Given the description of an element on the screen output the (x, y) to click on. 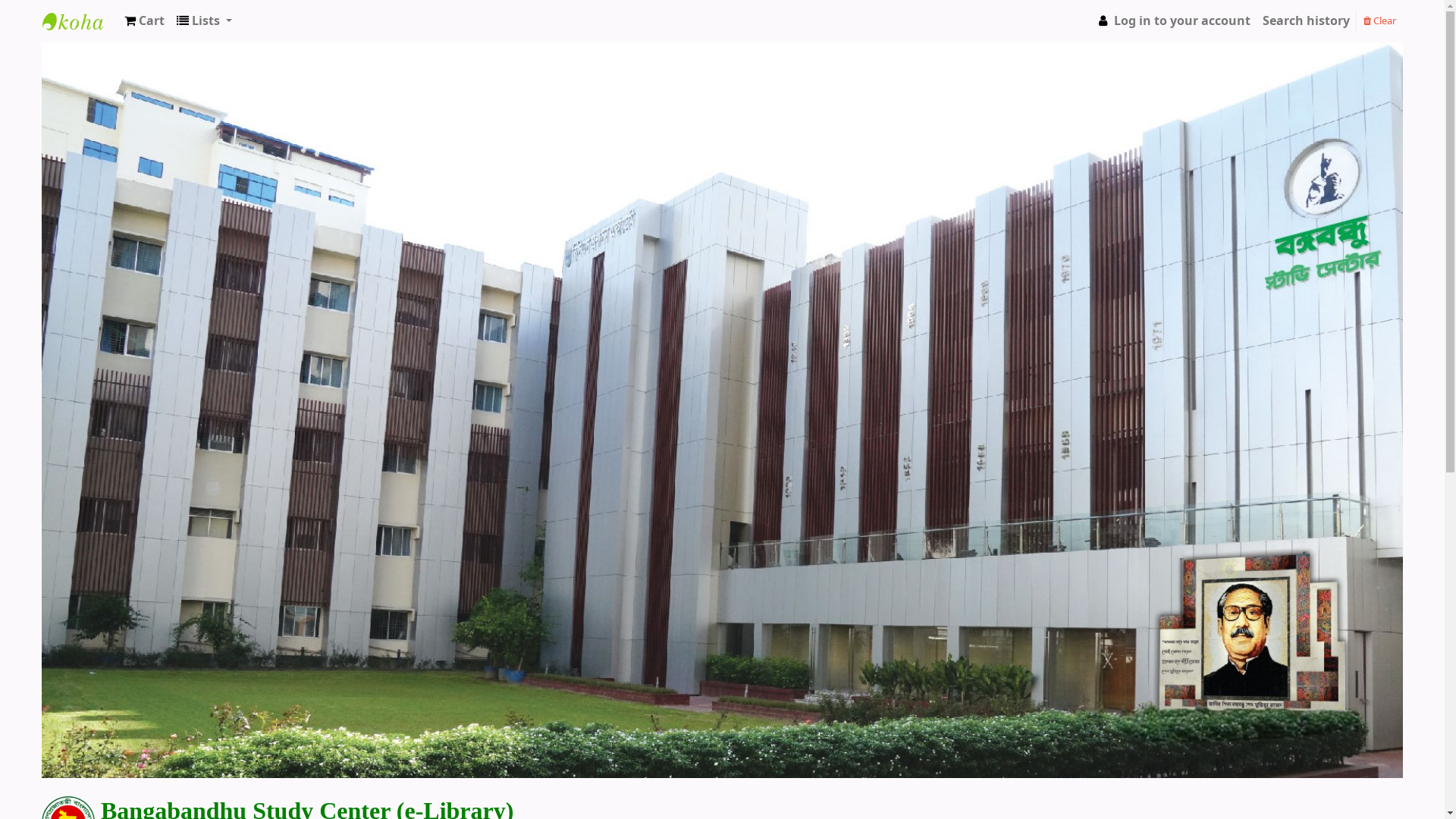
Search history Element type: text (1305, 21)
Log in to your account Element type: text (1172, 21)
Clear Element type: text (1379, 20)
BCS Administration Academy Library Element type: text (80, 21)
Lists Element type: text (204, 21)
Cart Element type: text (144, 21)
